Given the description of an element on the screen output the (x, y) to click on. 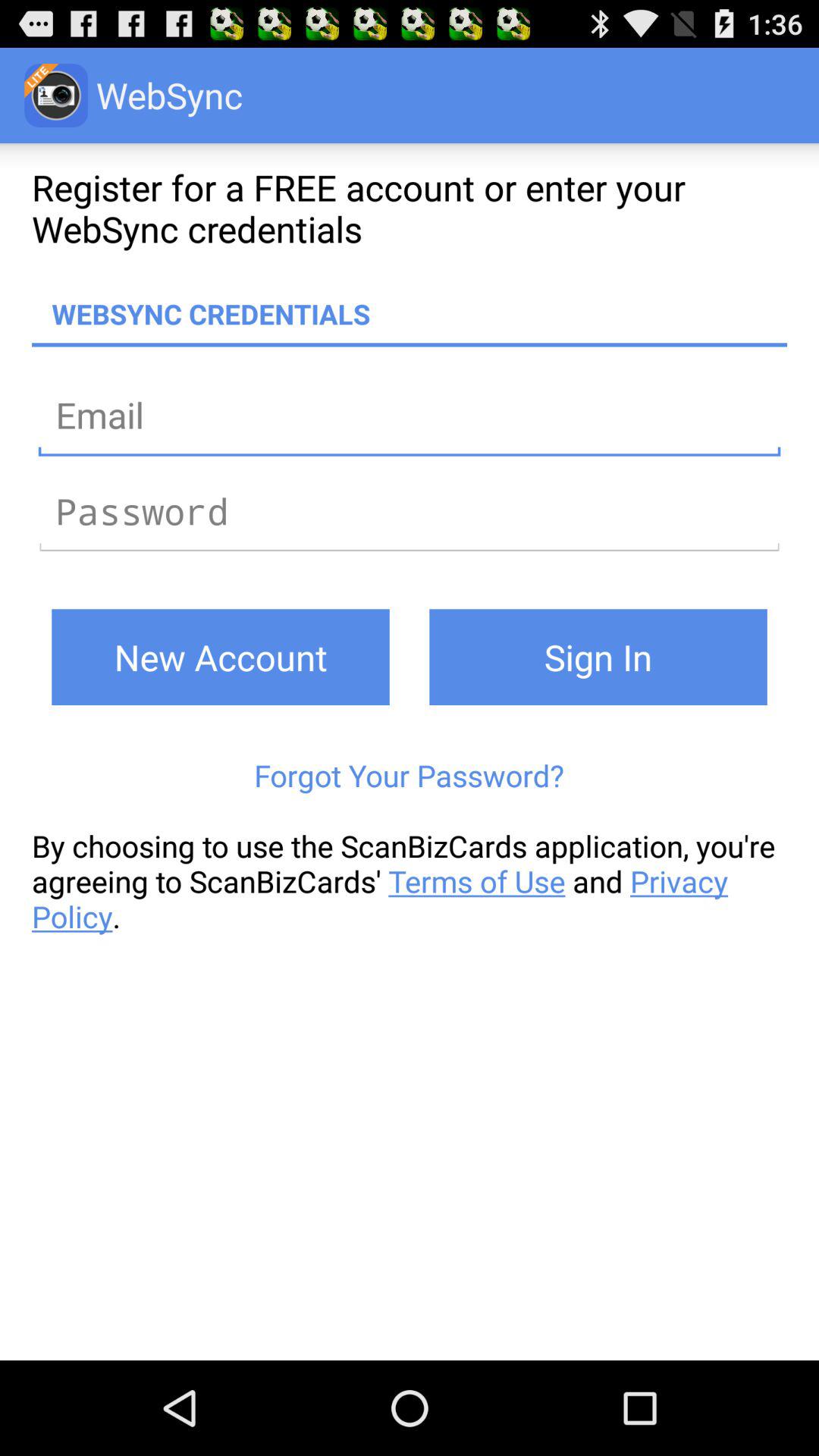
flip to sign in (598, 657)
